Given the description of an element on the screen output the (x, y) to click on. 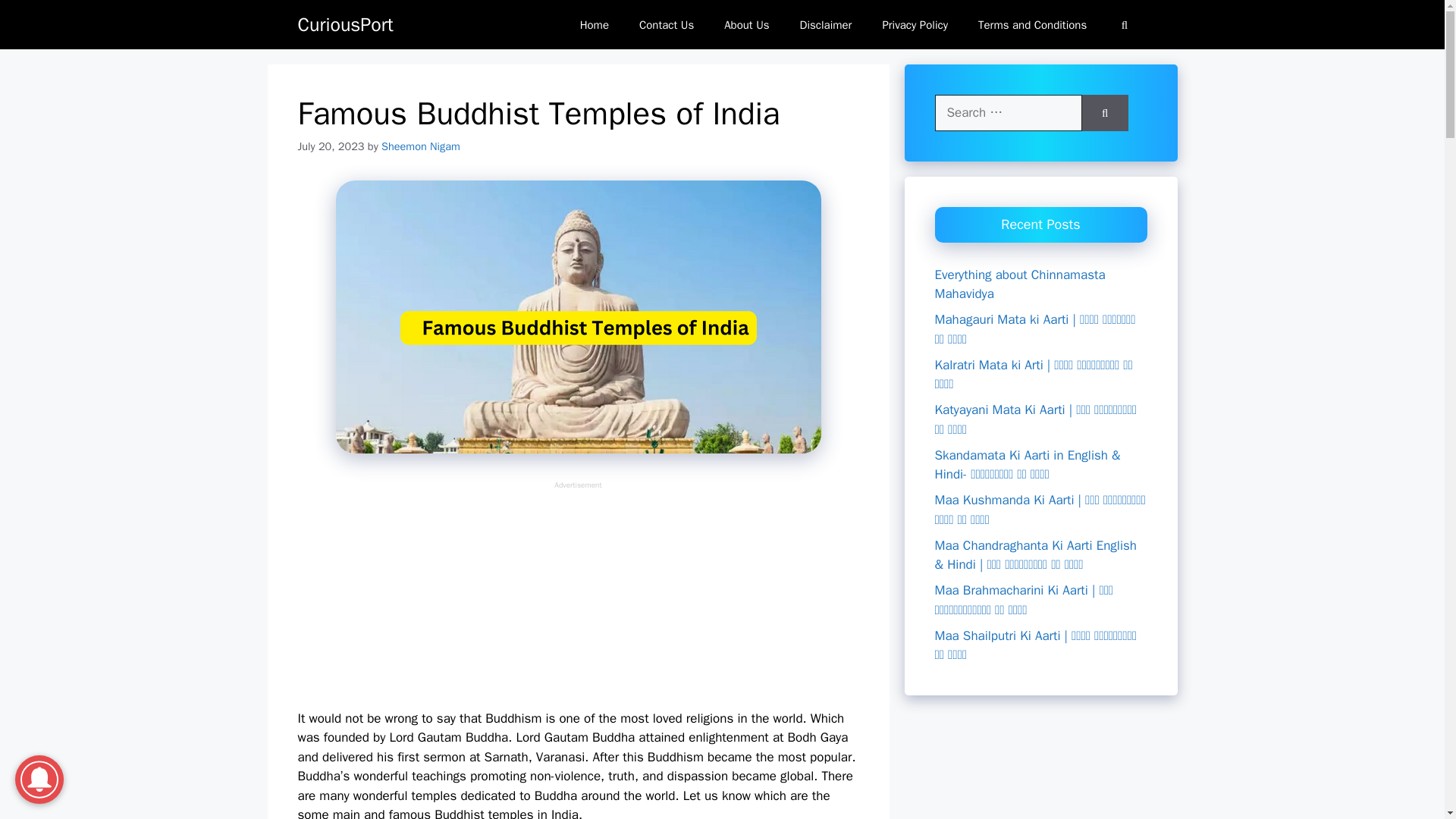
Everything about Chinnamasta Mahavidya (1019, 284)
Home (594, 23)
Advertisement (578, 596)
View all posts by Sheemon Nigam (420, 146)
About Us (746, 23)
Sheemon Nigam (420, 146)
Disclaimer (825, 23)
Contact Us (666, 23)
CuriousPort (345, 24)
Privacy Policy (914, 23)
Terms and Conditions (1032, 23)
